Given the description of an element on the screen output the (x, y) to click on. 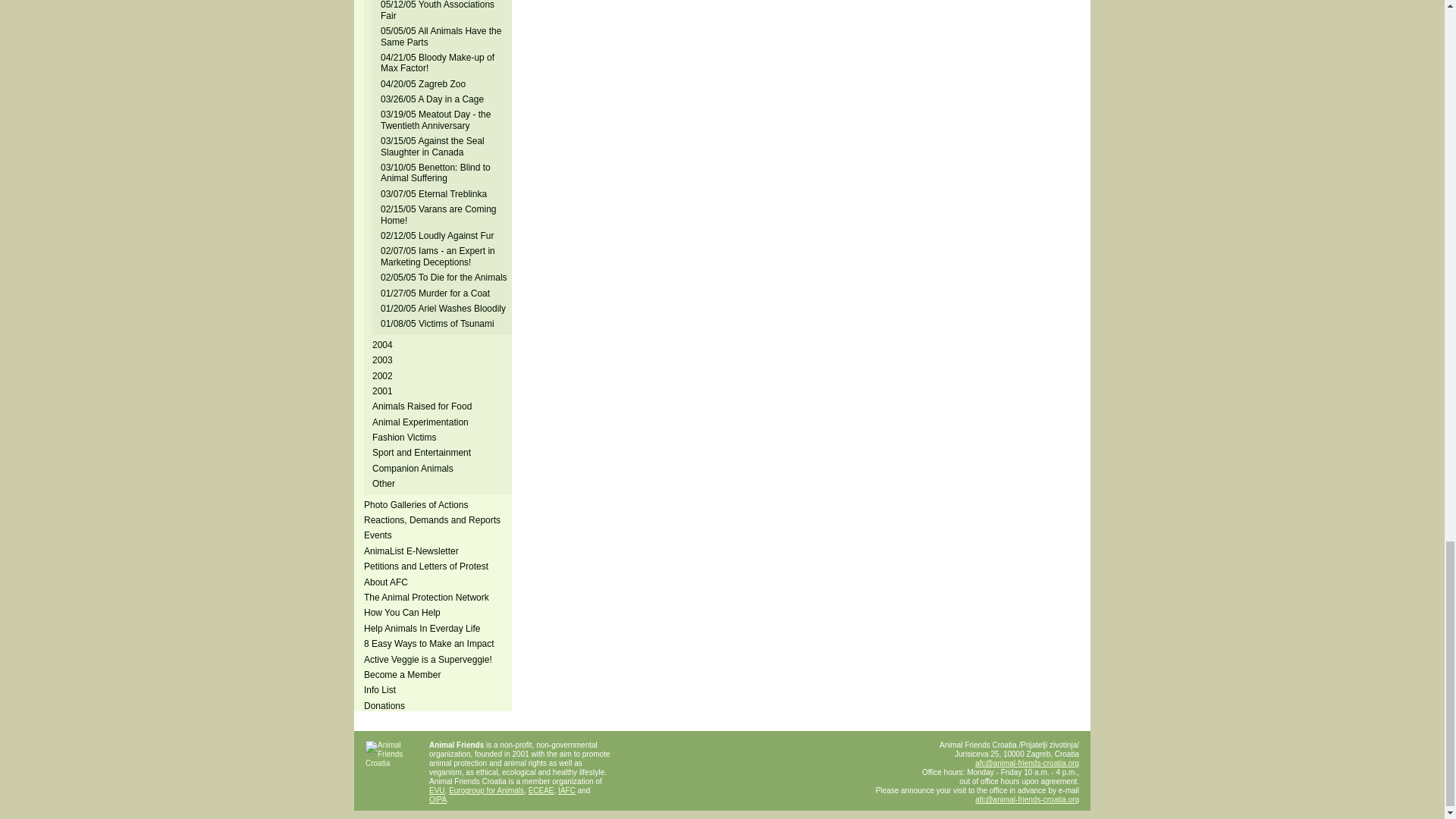
International Organization for Animal Protection (437, 799)
Eurogroup for Animals (486, 790)
International Anti-Fur Coalition (566, 790)
How To Help Animals In Everyday Life?  (422, 628)
European Coalition to End Animal Experiments (541, 790)
European Vegetarian Union (437, 790)
